Given the description of an element on the screen output the (x, y) to click on. 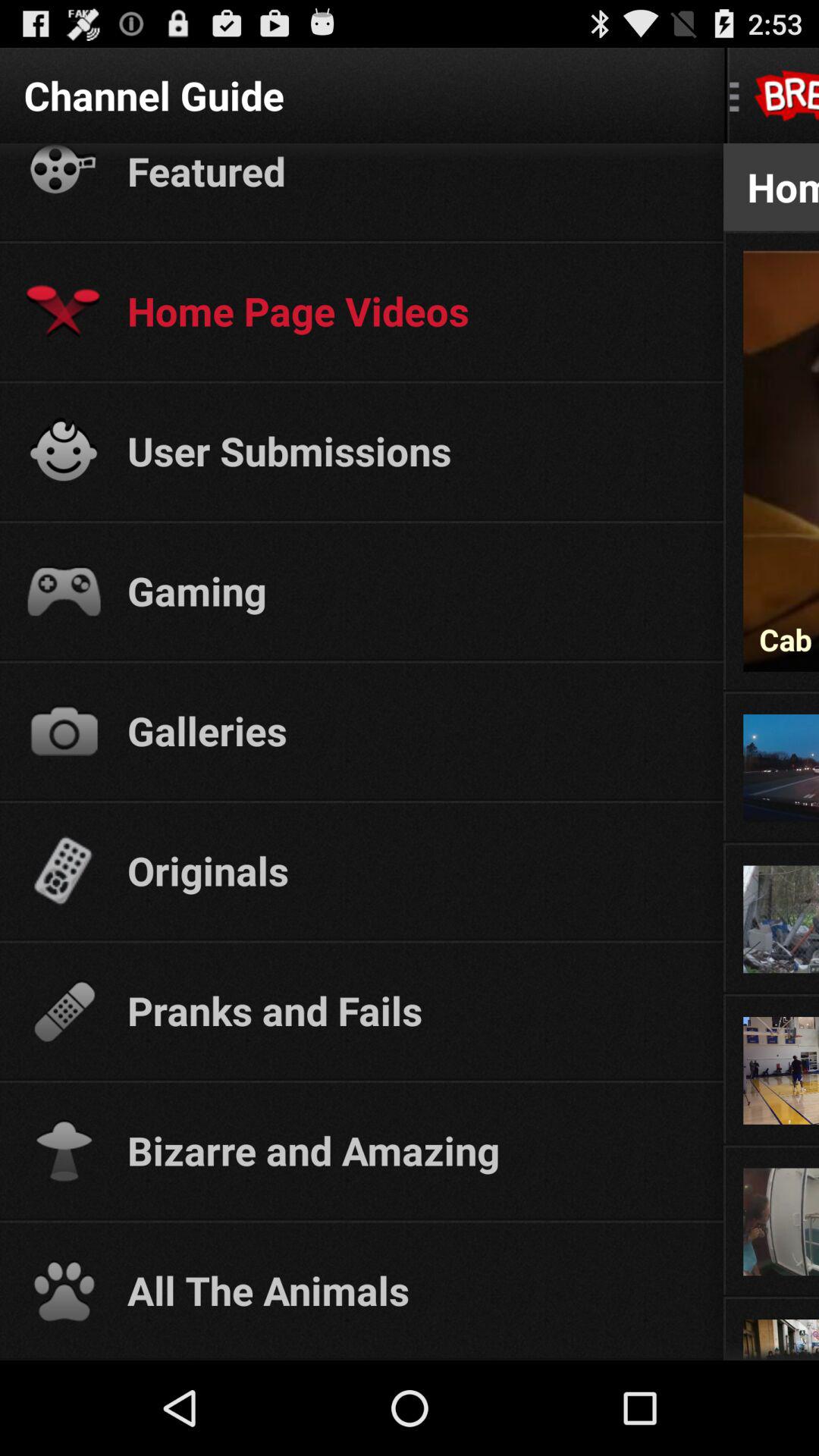
turn on the app next to the bizarre and amazing (771, 1146)
